Given the description of an element on the screen output the (x, y) to click on. 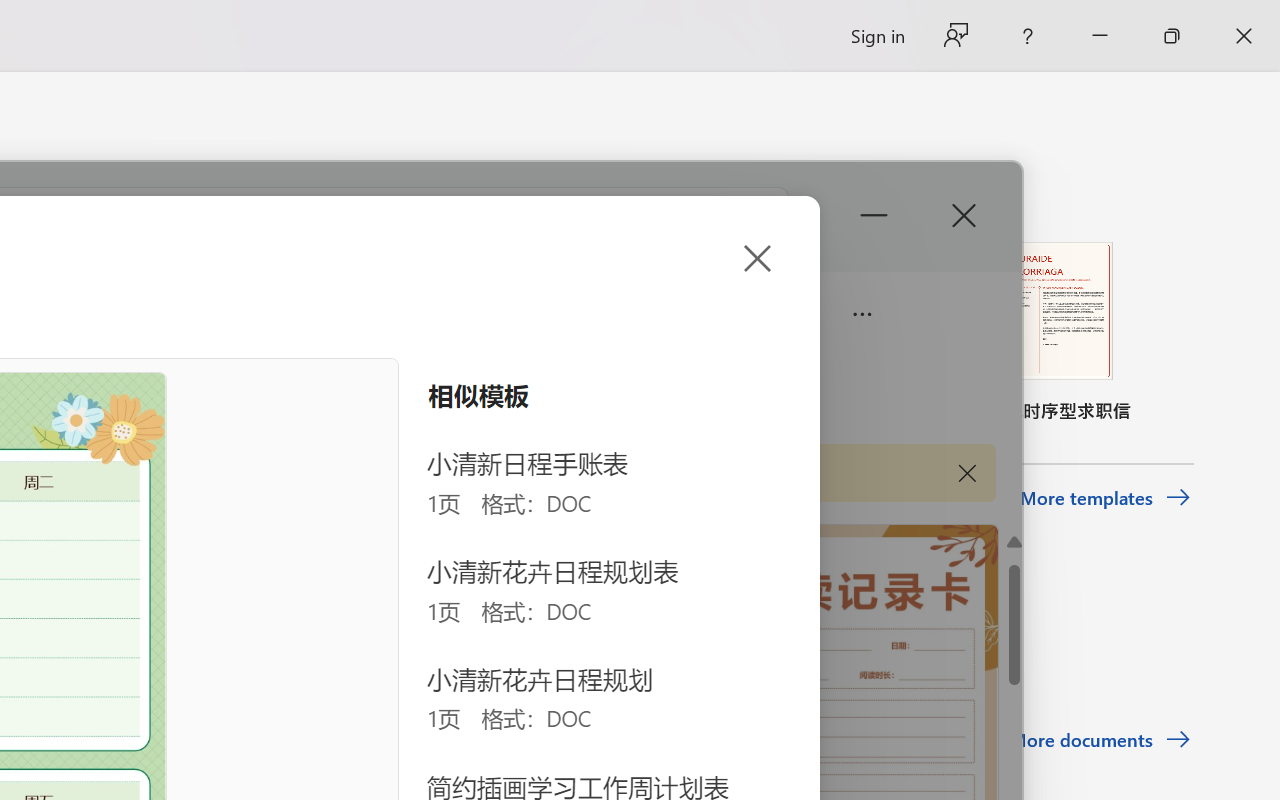
More templates (1105, 498)
More documents (1100, 740)
Sign in (875, 35)
